Given the description of an element on the screen output the (x, y) to click on. 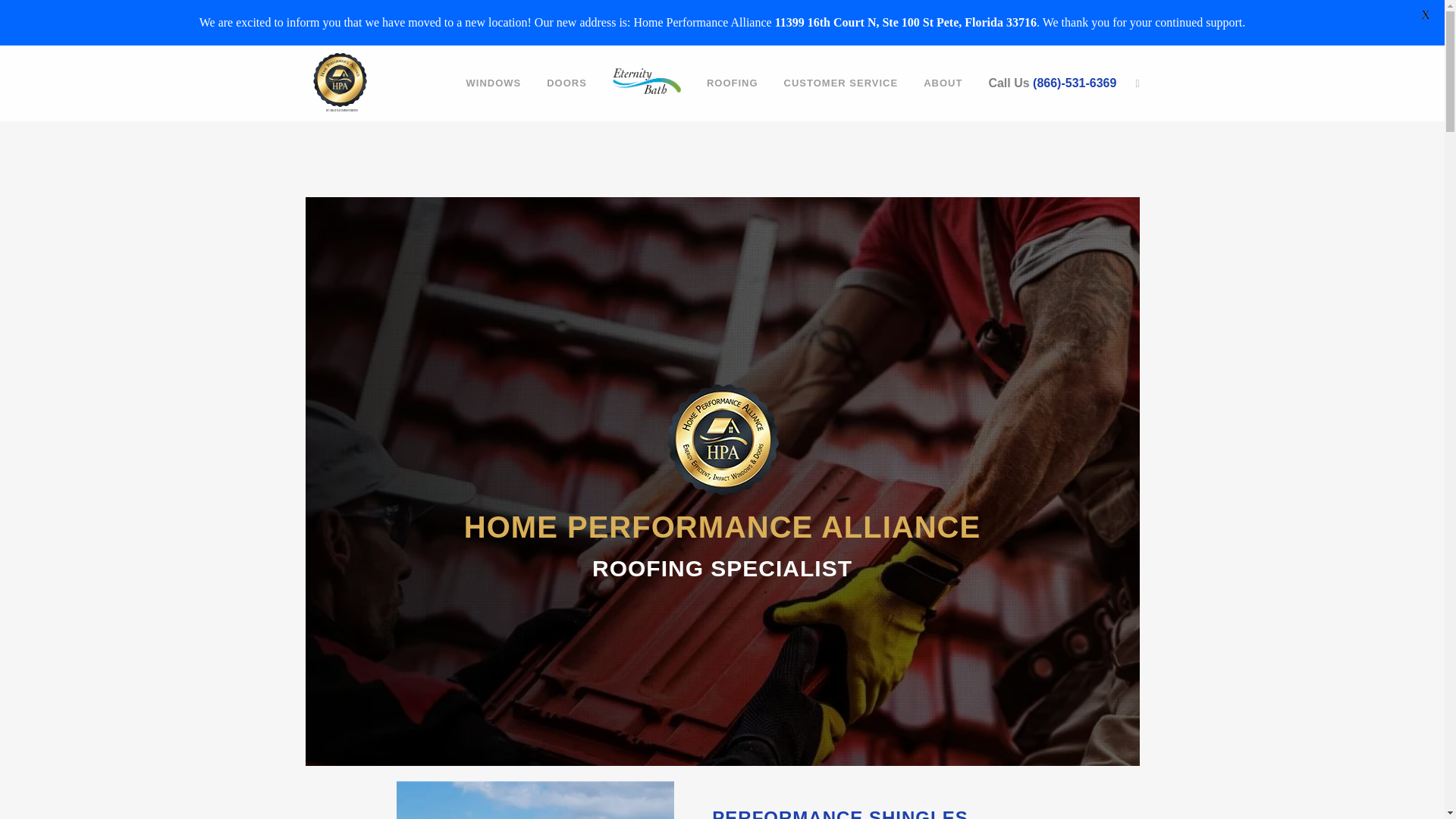
WINDOWS (493, 83)
ROOFING (732, 83)
CUSTOMER SERVICE (841, 83)
